Given the description of an element on the screen output the (x, y) to click on. 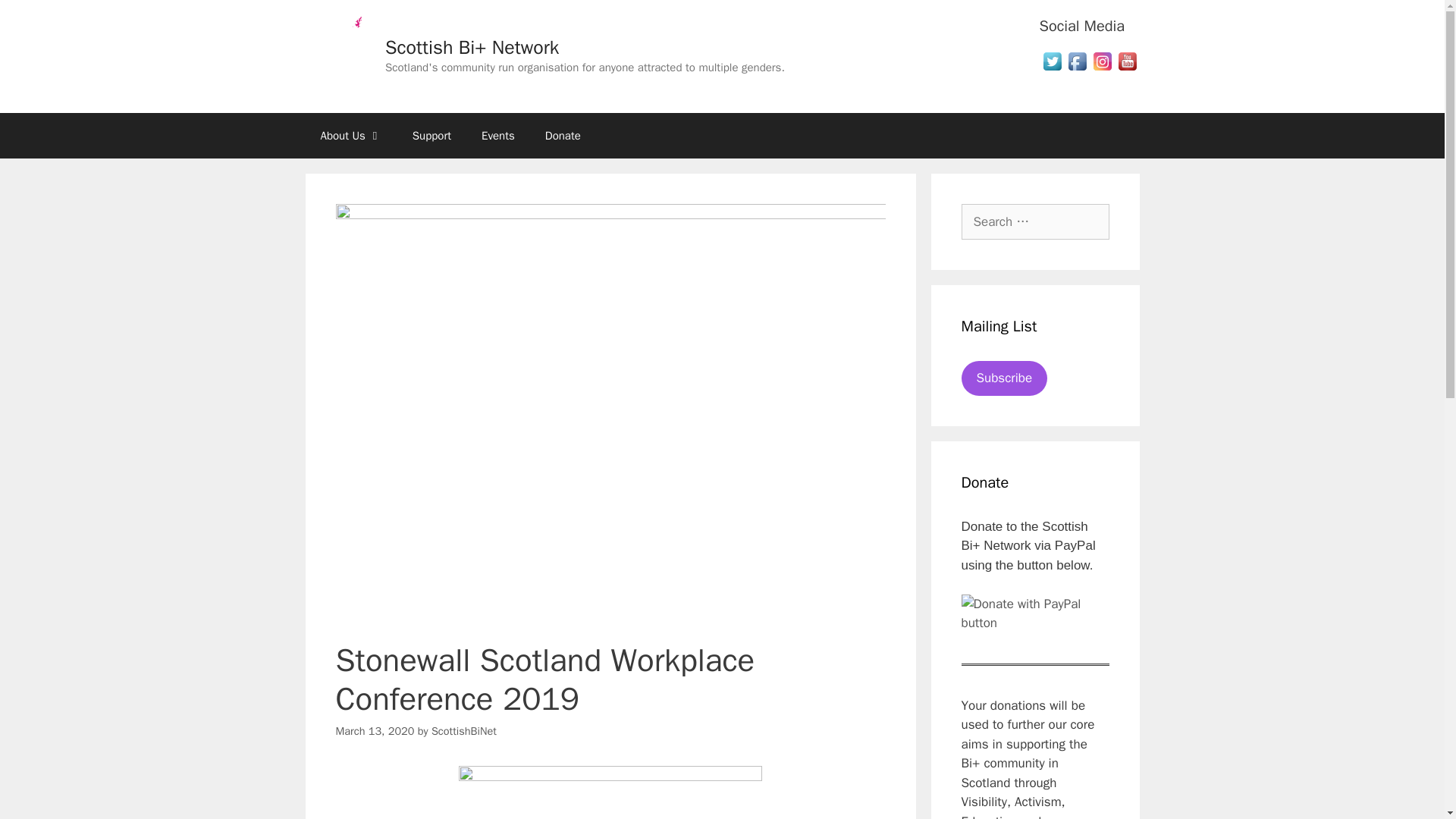
View all posts by ScottishBiNet (463, 730)
Search (35, 18)
ScottishBiNet (463, 730)
Visit Us On Twitter (1051, 68)
About Us (350, 135)
Visit Us On Youtube (1127, 68)
Donate (562, 135)
Events (497, 135)
Support (431, 135)
PayPal - The safer, easier way to pay online! (1034, 613)
